Given the description of an element on the screen output the (x, y) to click on. 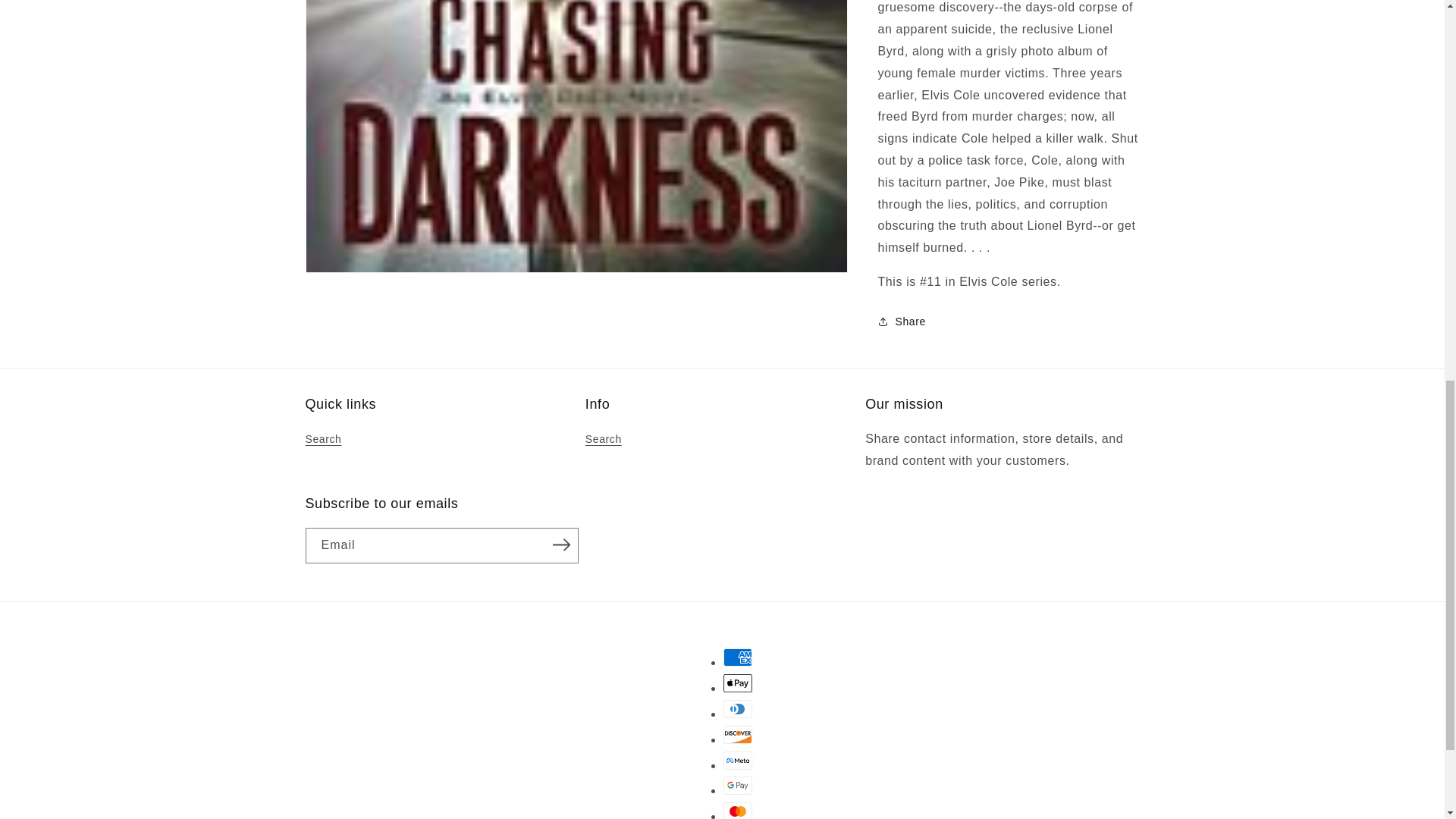
Google Pay (737, 785)
Meta Pay (737, 760)
Diners Club (737, 709)
Mastercard (737, 810)
Discover (737, 734)
American Express (737, 657)
Apple Pay (737, 683)
